Given the description of an element on the screen output the (x, y) to click on. 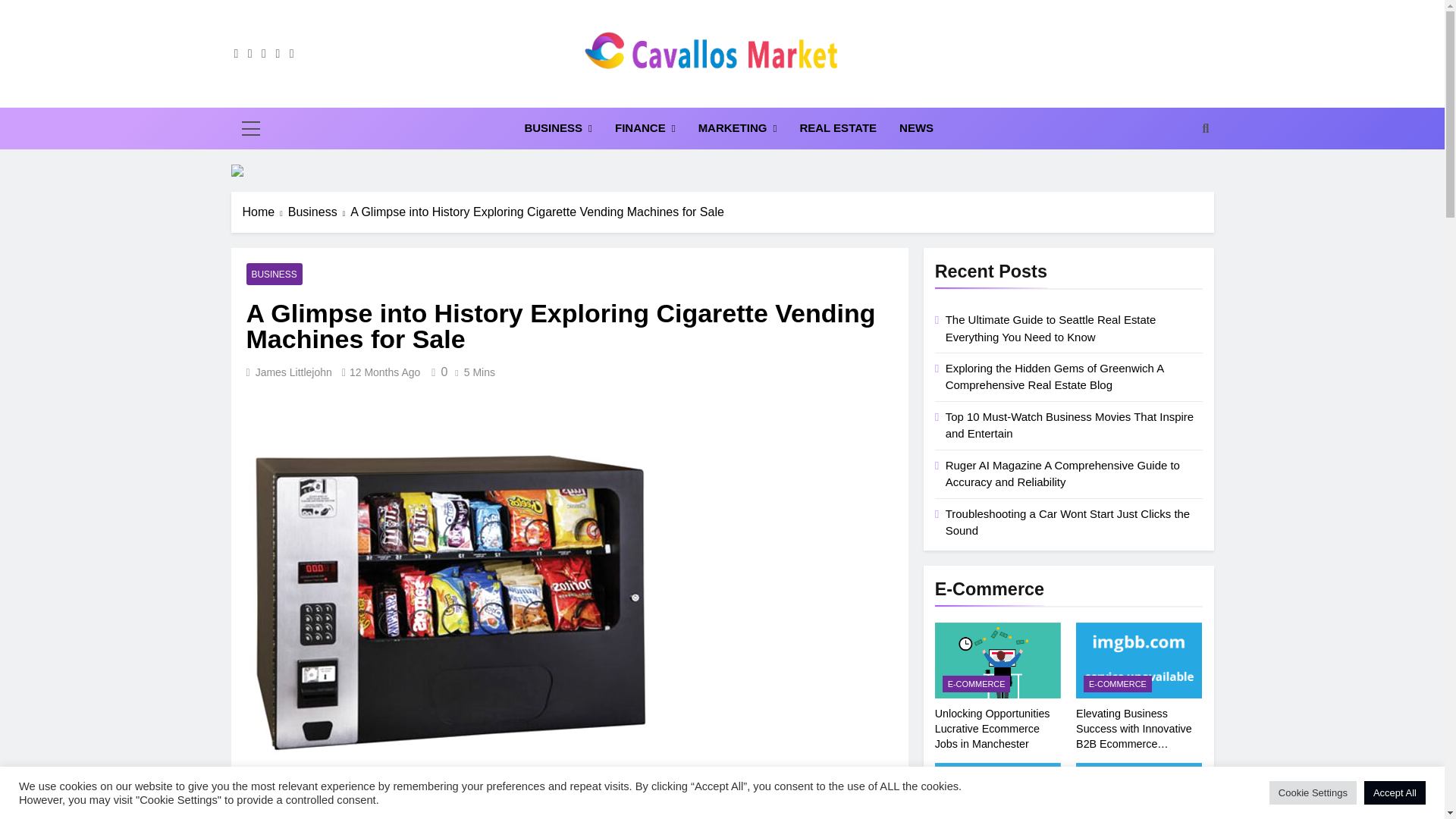
BUSINESS (558, 128)
MARKETING (738, 128)
Cavallos Market (601, 94)
FINANCE (645, 128)
REAL ESTATE (837, 127)
NEWS (916, 127)
